Given the description of an element on the screen output the (x, y) to click on. 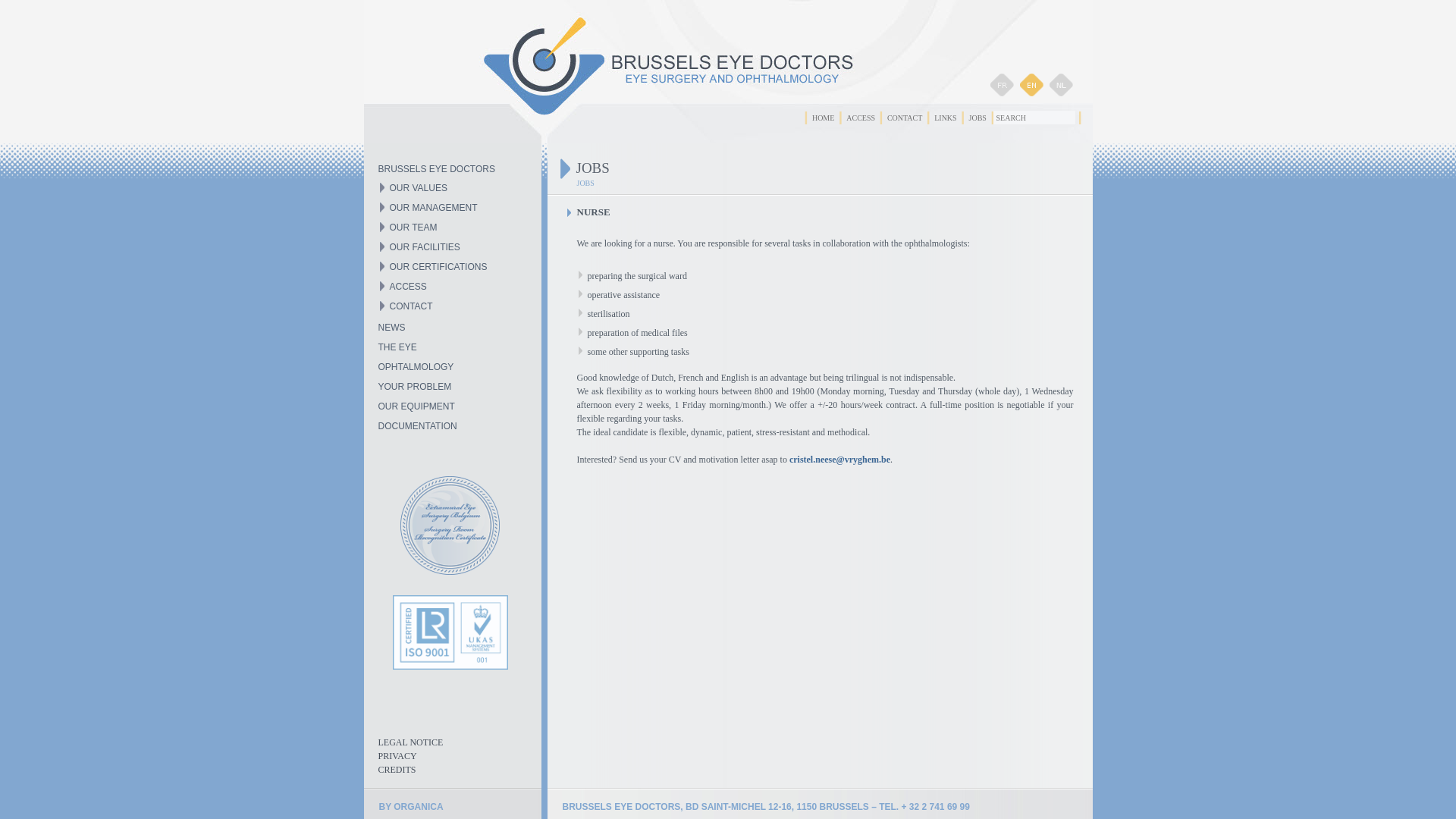
OPHTALMOLOGY Element type: text (415, 366)
OUR CERTIFICATIONS Element type: text (438, 266)
CREDITS Element type: text (396, 769)
ACCESS Element type: text (407, 286)
ACCESS Element type: text (860, 117)
OUR VALUES Element type: text (418, 187)
OUR TEAM Element type: text (413, 227)
OUR EQUIPMENT Element type: text (415, 406)
LEGAL NOTICE Element type: text (409, 742)
THE EYE Element type: text (396, 347)
DOCUMENTATION Element type: text (416, 425)
NEWS Element type: text (390, 327)
CONTACT Element type: text (904, 117)
YOUR PROBLEM Element type: text (414, 386)
cristel.neese@vryghem.be Element type: text (839, 459)
BY ORGANICA Element type: text (411, 806)
HOME Element type: text (823, 117)
PRIVACY Element type: text (396, 755)
JOBS Element type: text (977, 117)
OUR FACILITIES Element type: text (424, 246)
BRUSSELS EYE DOCTORS Element type: text (436, 168)
Search Element type: text (1034, 117)
LINKS Element type: text (945, 117)
CONTACT Element type: text (411, 306)
OUR MANAGEMENT Element type: text (433, 207)
